Given the description of an element on the screen output the (x, y) to click on. 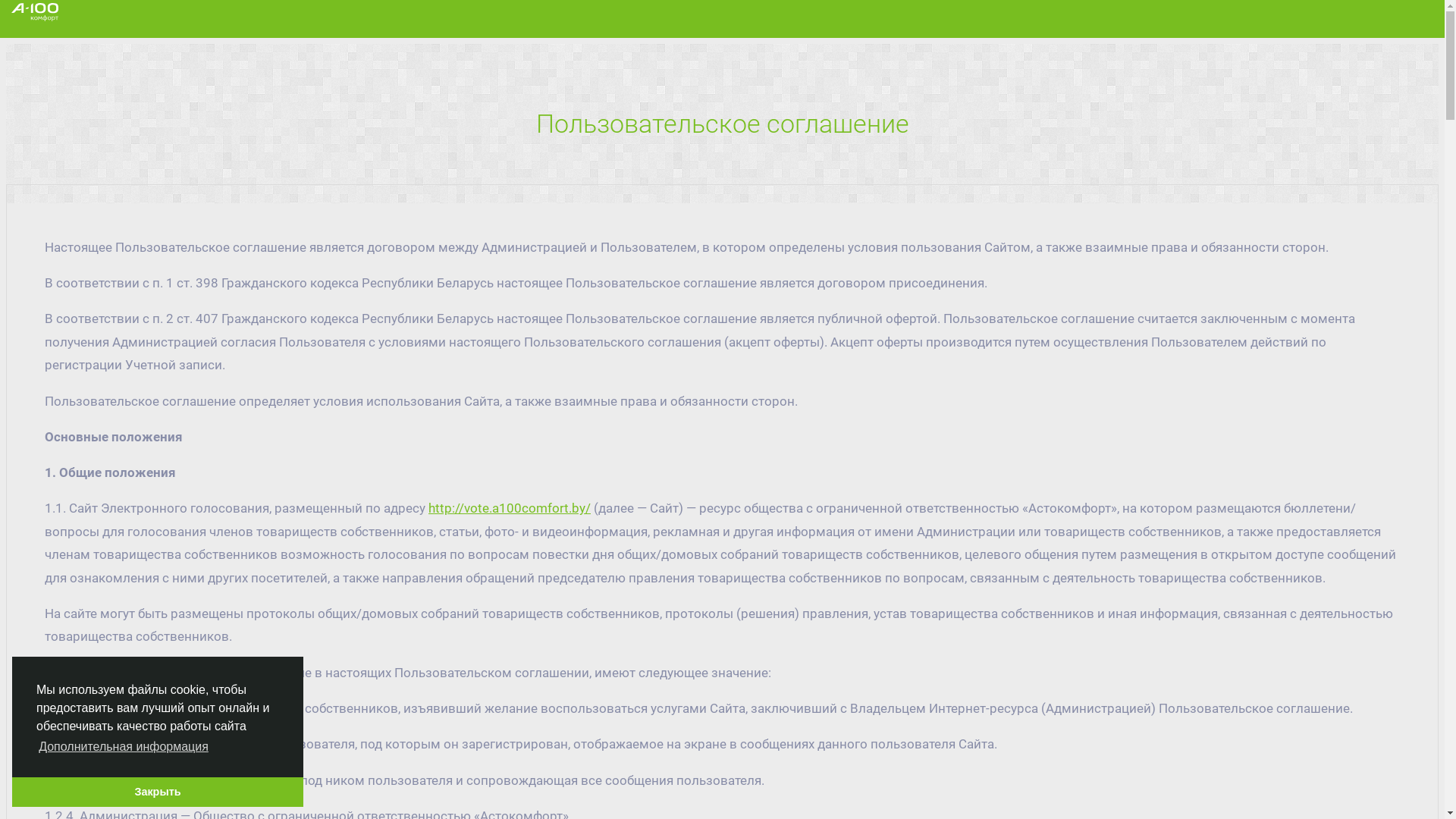
http://vote.a100comfort.by/ Element type: text (509, 507)
